Given the description of an element on the screen output the (x, y) to click on. 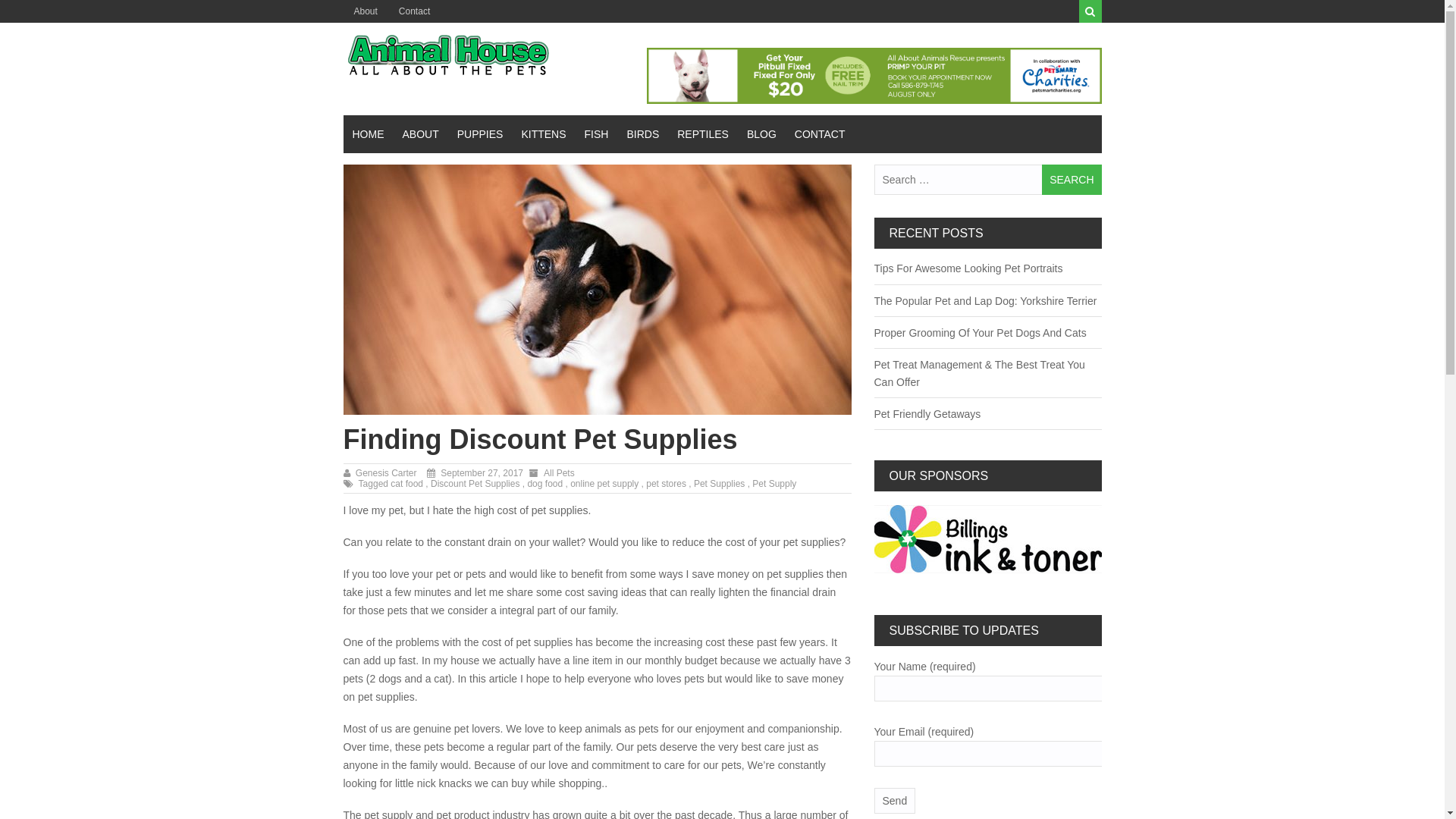
Genesis Carter Element type: text (386, 472)
Send Element type: text (894, 800)
KITTENS Element type: text (542, 134)
dog food Element type: text (545, 483)
FISH Element type: text (596, 134)
September 27, 2017 Element type: text (481, 472)
BIRDS Element type: text (642, 134)
Pet Supplies Element type: text (720, 483)
PUPPIES Element type: text (480, 134)
Pet Supply Element type: text (774, 483)
pet stores Element type: text (667, 483)
cat food Element type: text (407, 483)
Skip to content Element type: text (0, 0)
Tips For Awesome Looking Pet Portraits Element type: text (967, 268)
online pet supply Element type: text (605, 483)
CONTACT Element type: text (819, 134)
The Popular Pet and Lap Dog: Yorkshire Terrier Element type: text (984, 300)
Pet Friendly Getaways Element type: text (926, 413)
Pet Treat Management & The Best Treat You Can Offer Element type: text (978, 372)
REPTILES Element type: text (702, 134)
Proper Grooming Of Your Pet Dogs And Cats Element type: text (979, 332)
BLOG Element type: text (761, 134)
Search Element type: text (1071, 179)
HOME Element type: text (367, 134)
About Element type: text (364, 11)
Discount Pet Supplies Element type: text (476, 483)
ABOUT Element type: text (419, 134)
Contact Element type: text (414, 11)
